Given the description of an element on the screen output the (x, y) to click on. 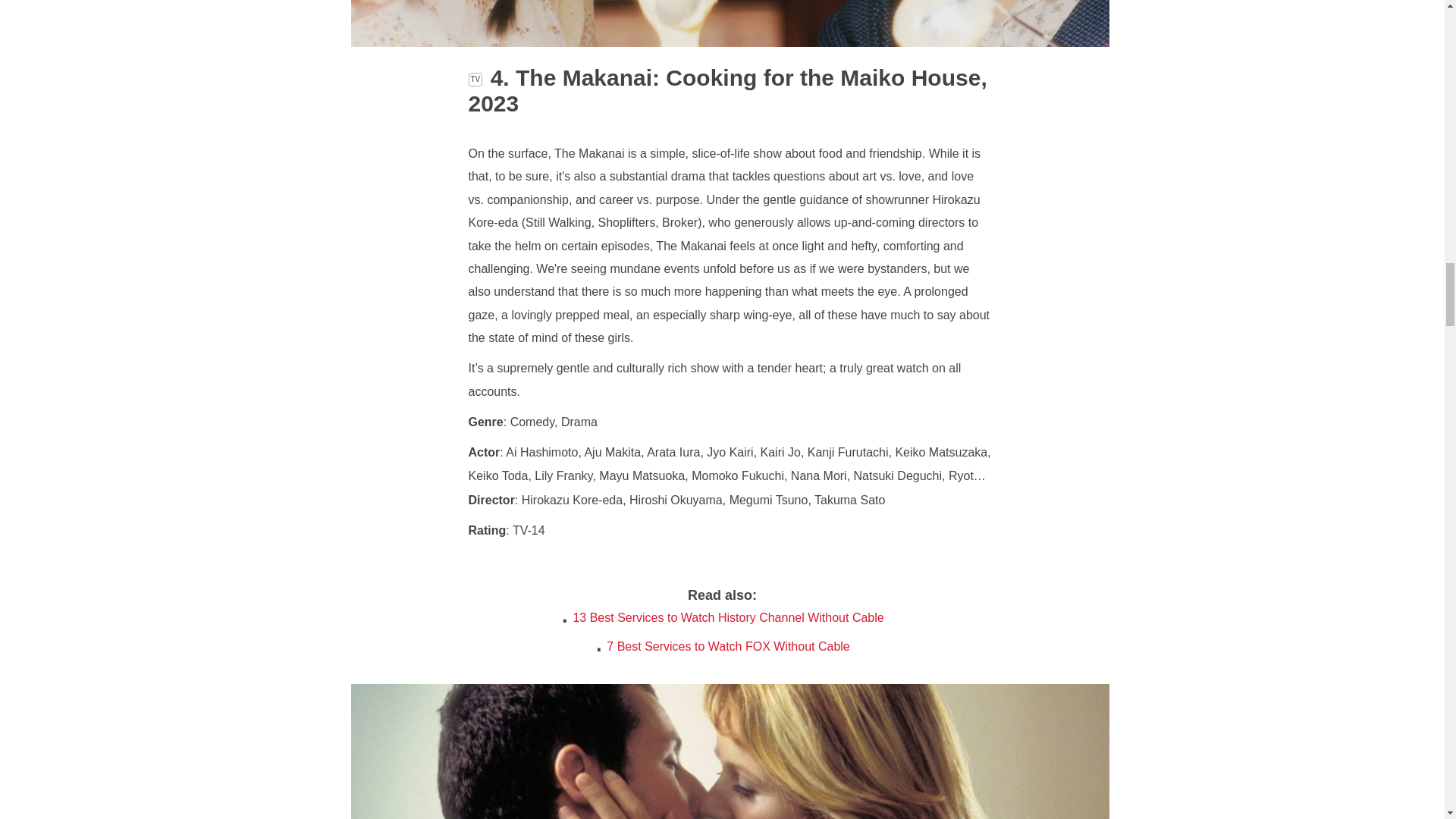
The Makanai: Cooking for the Maiko House (729, 42)
